Given the description of an element on the screen output the (x, y) to click on. 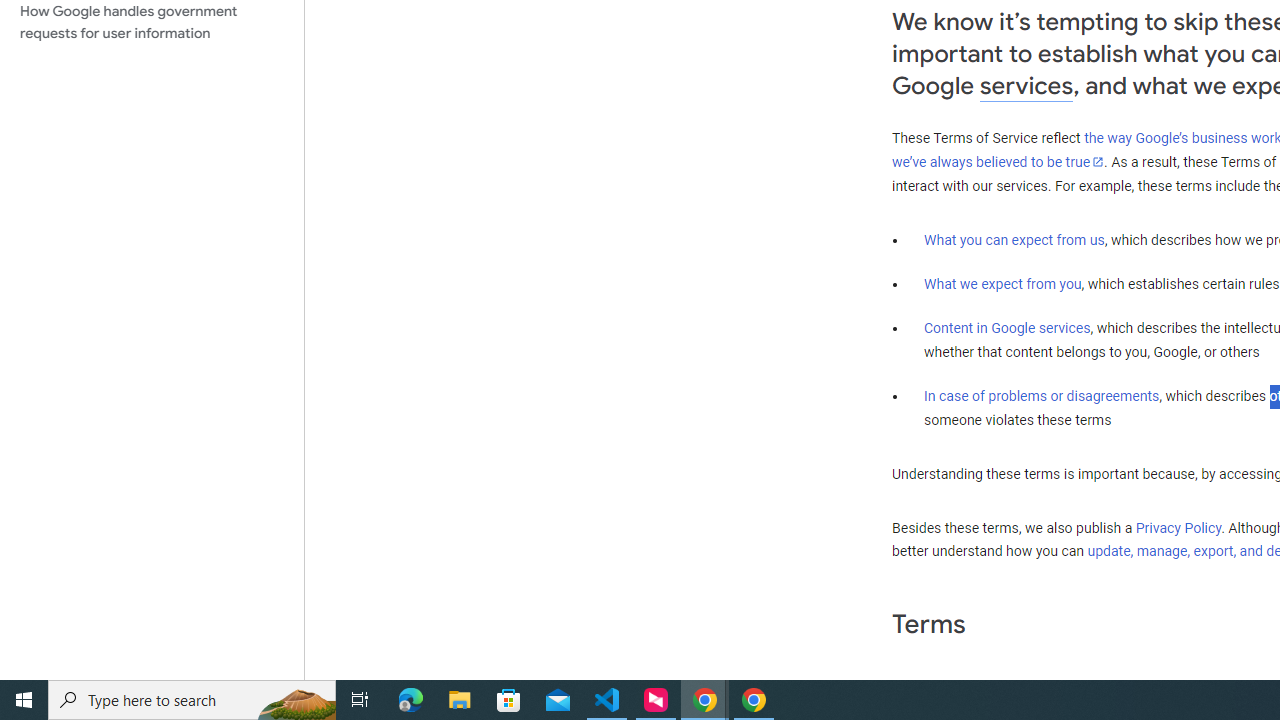
What we expect from you (1002, 284)
In case of problems or disagreements (1041, 395)
Content in Google services (1007, 327)
What you can expect from us (1014, 240)
services (1026, 85)
Privacy Policy (1178, 528)
